Given the description of an element on the screen output the (x, y) to click on. 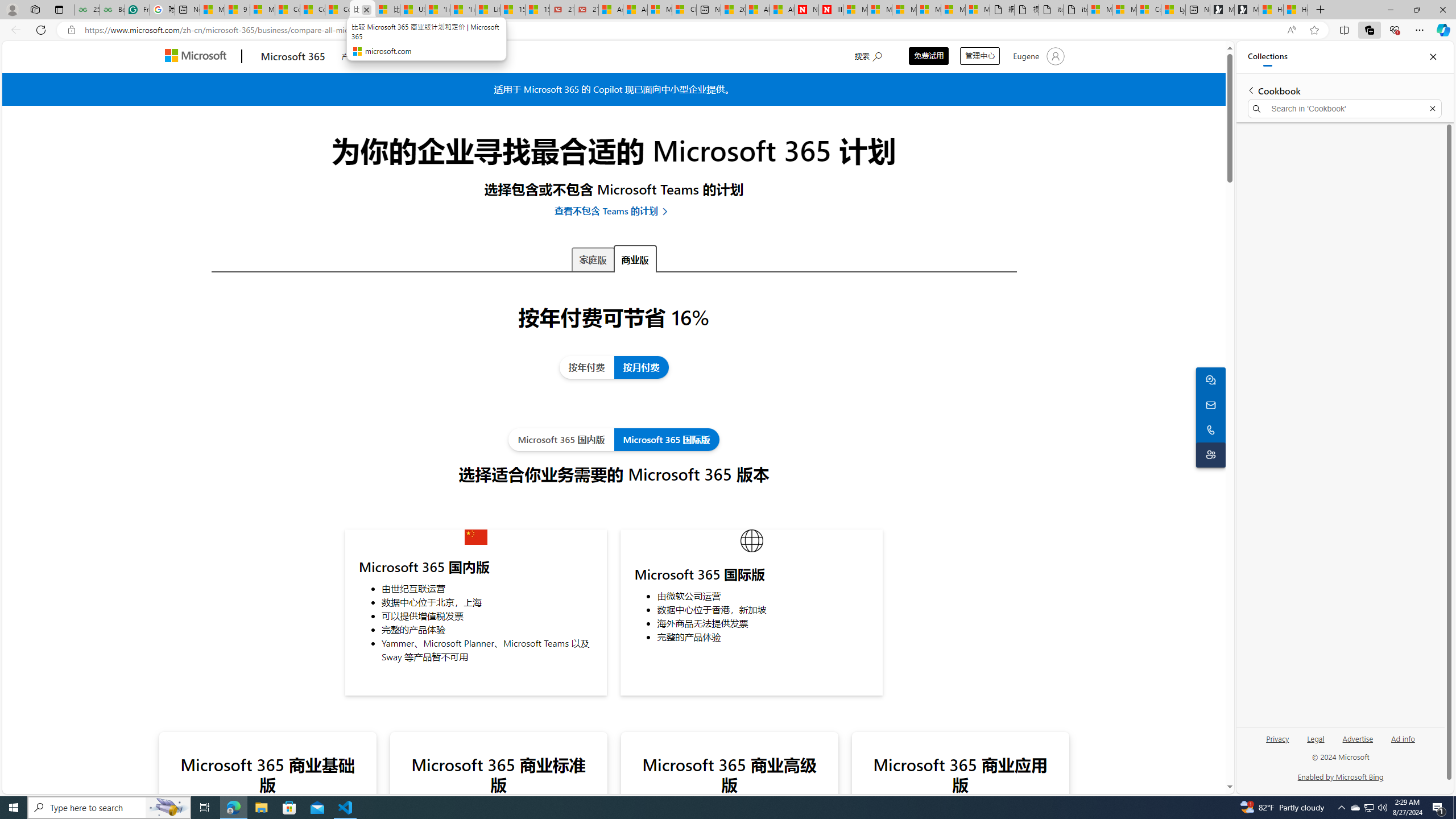
How to Use a TV as a Computer Monitor (1295, 9)
15 Ways Modern Life Contradicts the Teachings of Jesus (536, 9)
